Given the description of an element on the screen output the (x, y) to click on. 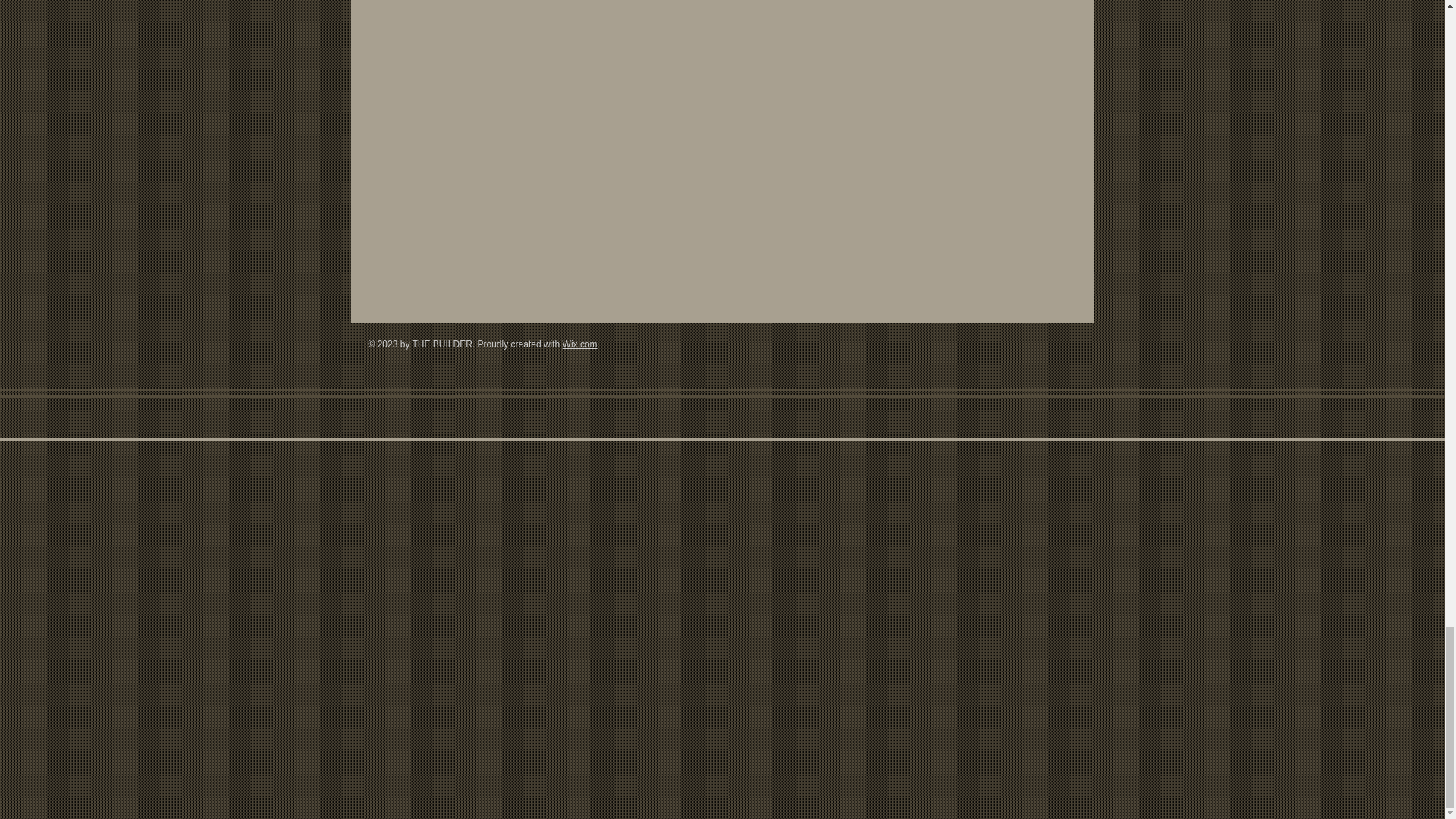
Wix.com (579, 344)
